Given the description of an element on the screen output the (x, y) to click on. 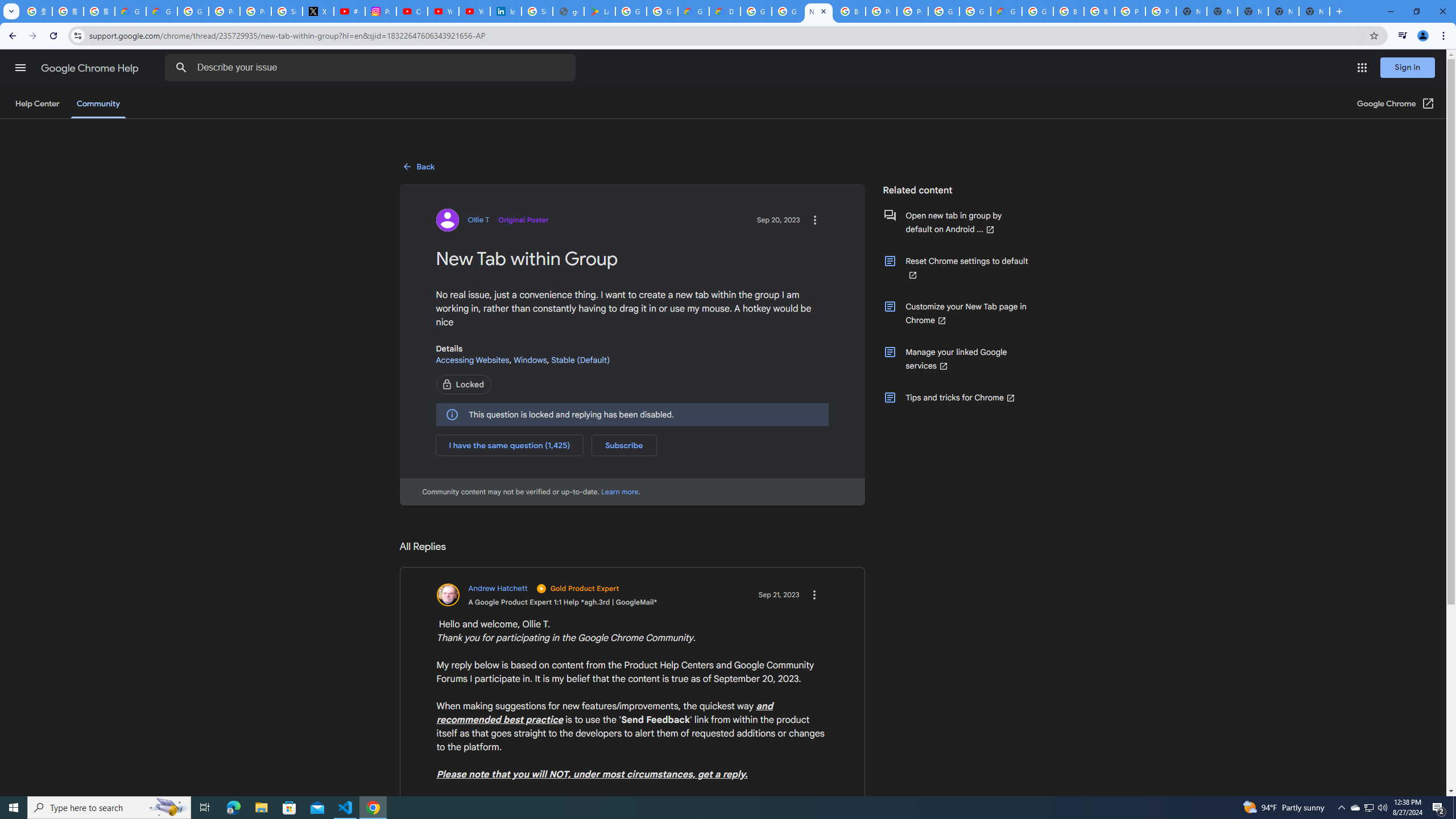
Action items for the reply (813, 594)
New Tab (1314, 11)
View profile for Ollie T (491, 219)
New Tab within Group - Google Chrome Community (818, 11)
Search Help Center (181, 67)
